Given the description of an element on the screen output the (x, y) to click on. 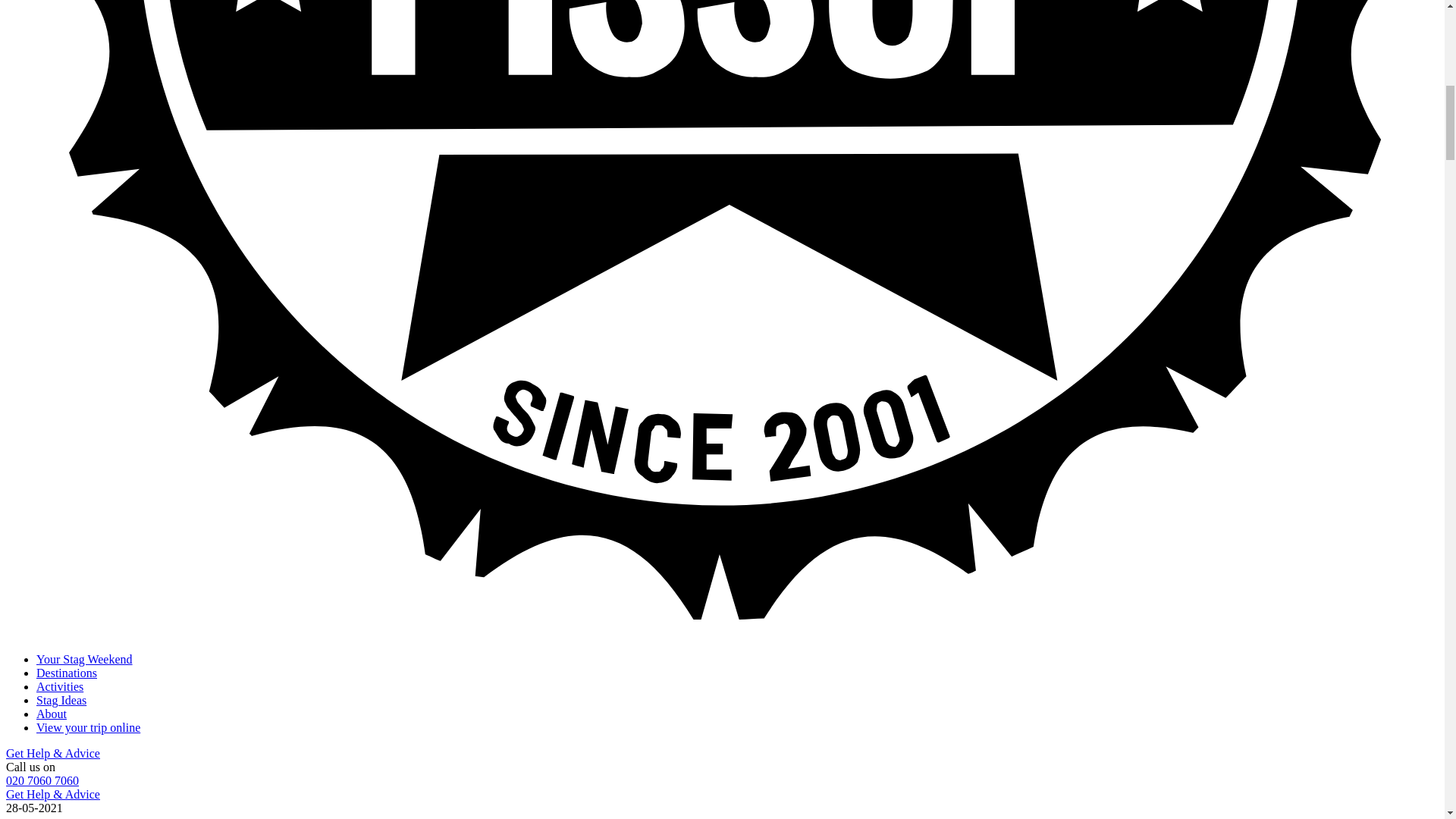
View your trip online (87, 727)
Activities (59, 686)
020 7060 7060 (41, 780)
About (51, 713)
Your Stag Weekend (84, 658)
Stag Ideas (60, 699)
Destinations (66, 672)
